Given the description of an element on the screen output the (x, y) to click on. 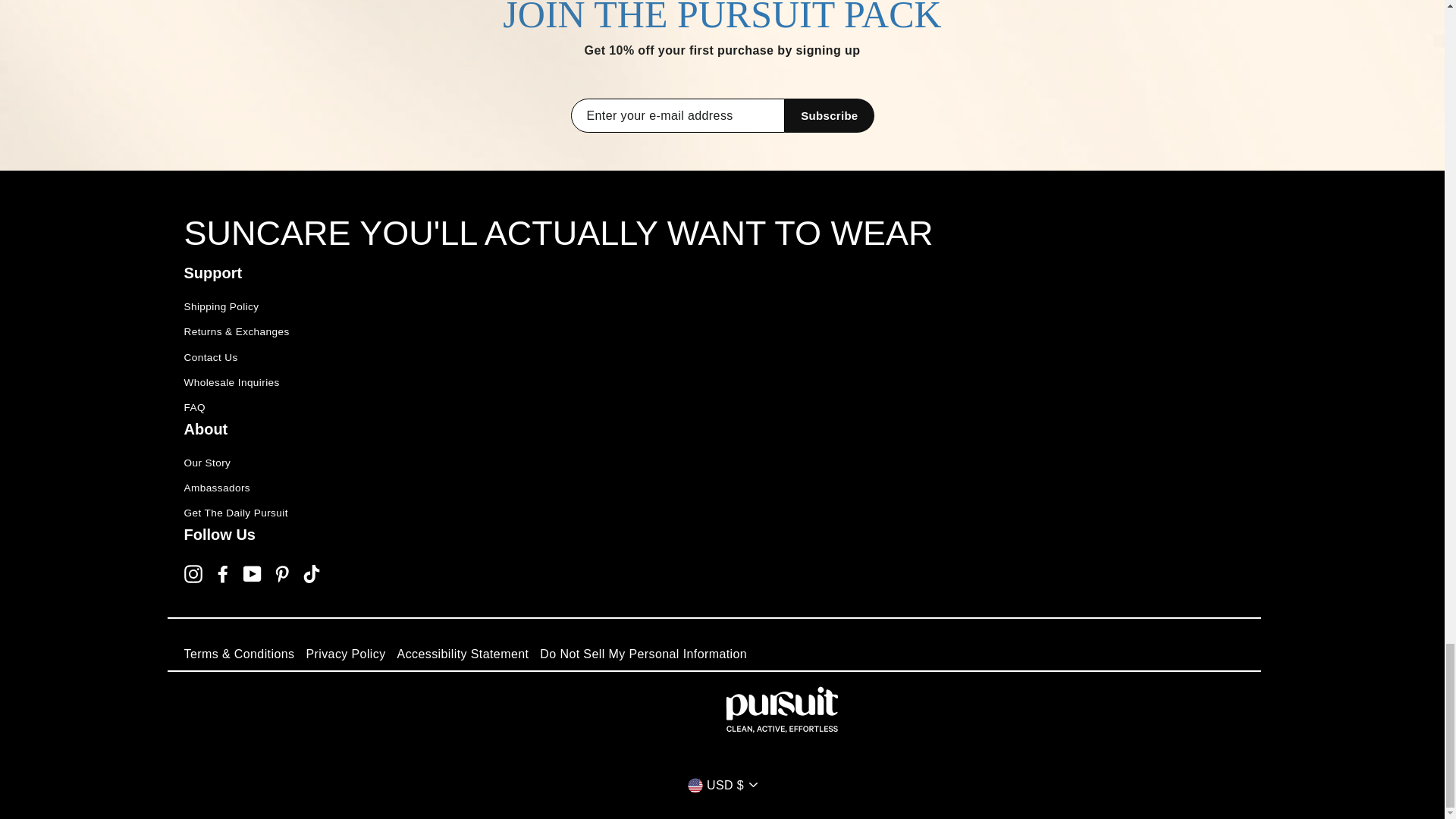
Pursuit Beauty on TikTok (310, 574)
Pursuit Beauty on Pinterest (282, 574)
Pursuit Beauty on Facebook (222, 574)
Pursuit Beauty on Instagram (192, 574)
Pursuit Beauty on YouTube (251, 574)
